Given the description of an element on the screen output the (x, y) to click on. 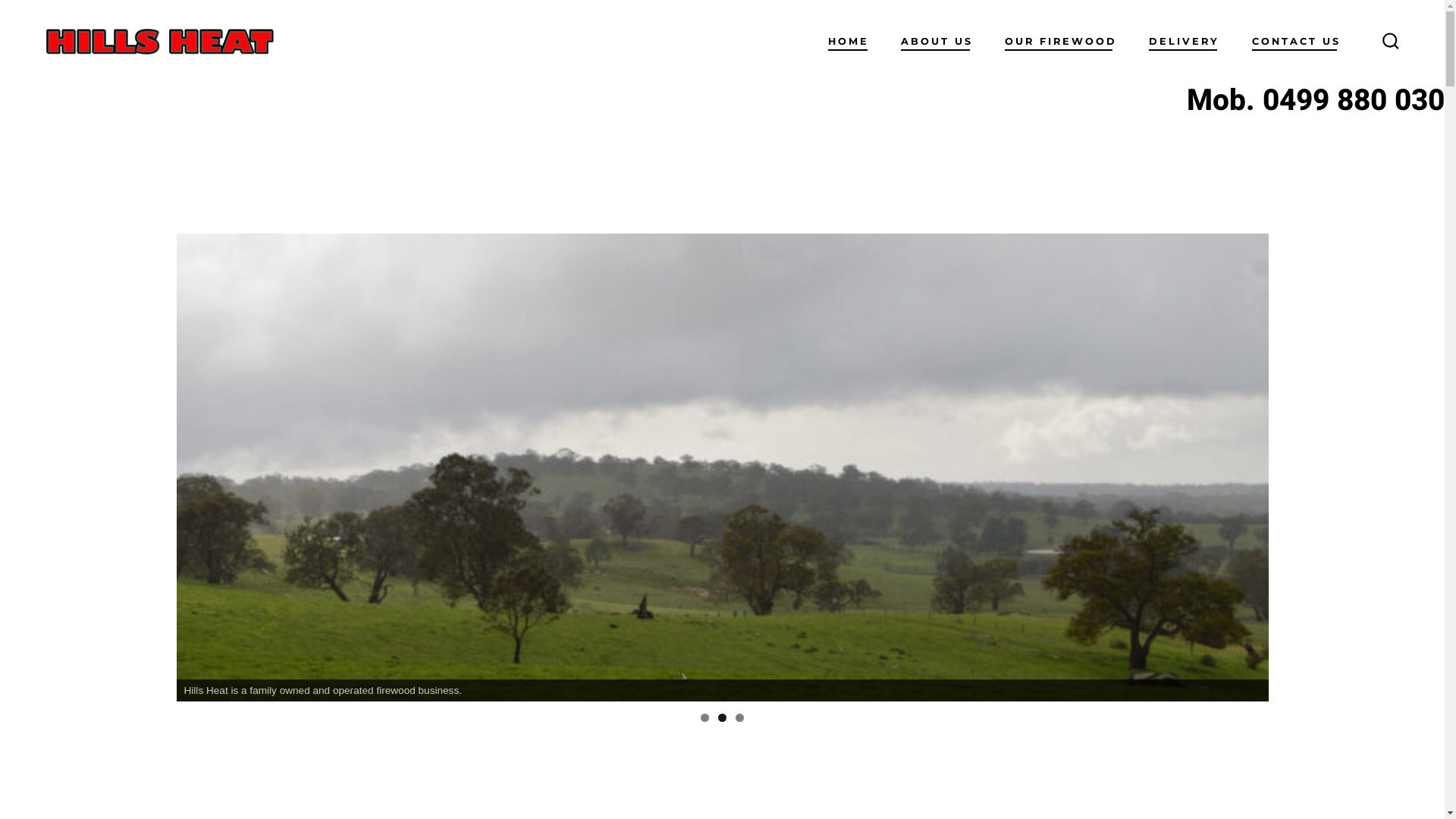
DELIVERY Element type: text (1183, 42)
HOME Element type: text (848, 42)
CONTACT US Element type: text (1296, 42)
SEARCH TOGGLE Element type: text (1390, 41)
2 Element type: text (722, 717)
1 Element type: text (704, 717)
ABOUT US Element type: text (936, 42)
family-owned Element type: hover (721, 467)
3 Element type: text (739, 717)
OUR FIREWOOD Element type: text (1060, 42)
